Given the description of an element on the screen output the (x, y) to click on. 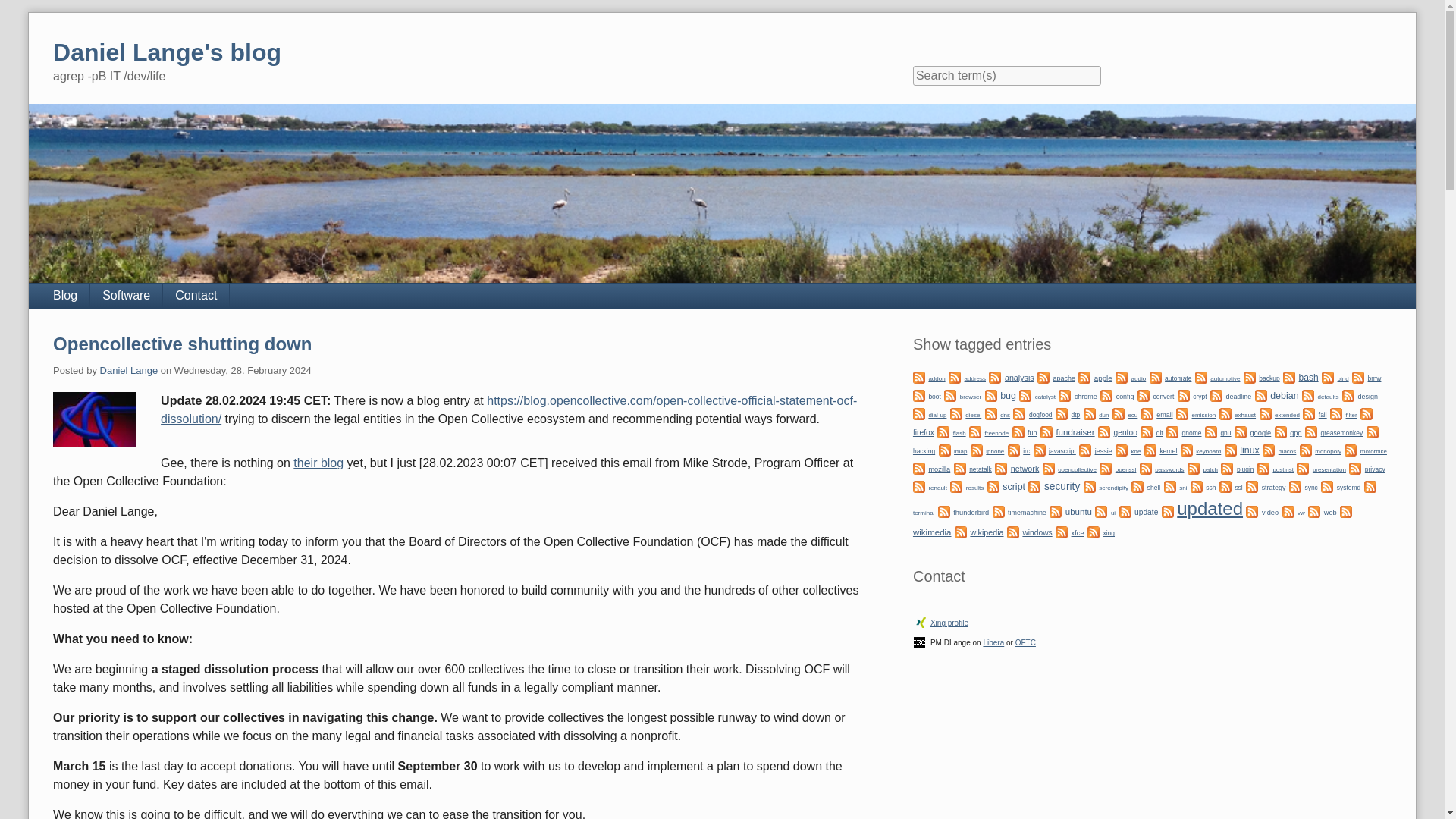
addon (918, 376)
Opencollective shutting down (181, 343)
Contact (196, 295)
their blog (318, 462)
Software (126, 295)
Daniel Lange (129, 369)
address (954, 376)
